Given the description of an element on the screen output the (x, y) to click on. 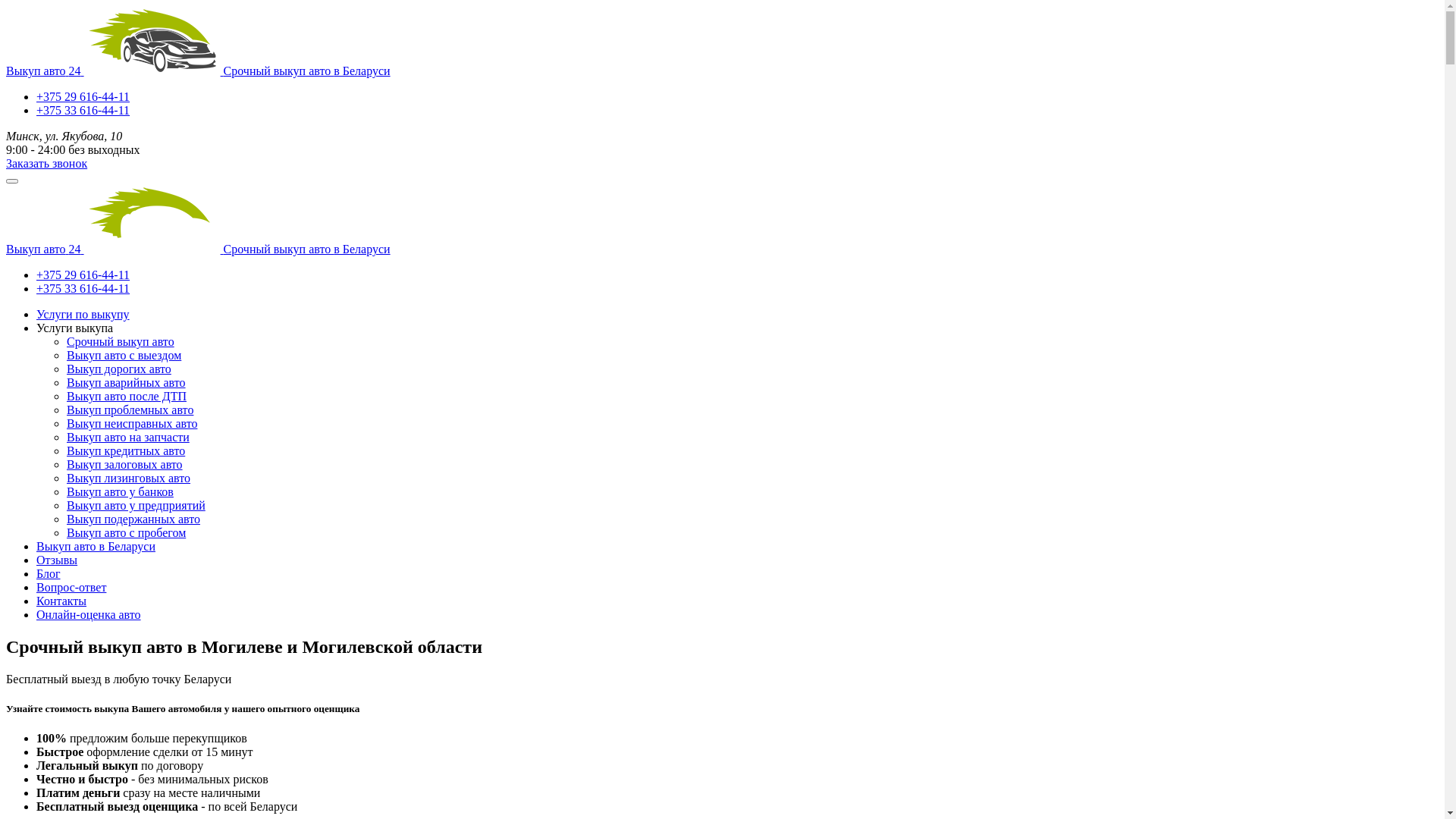
+375 33 616-44-11 Element type: text (82, 288)
+375 29 616-44-11 Element type: text (82, 96)
+375 33 616-44-11 Element type: text (82, 109)
+375 29 616-44-11 Element type: text (82, 274)
